Given the description of an element on the screen output the (x, y) to click on. 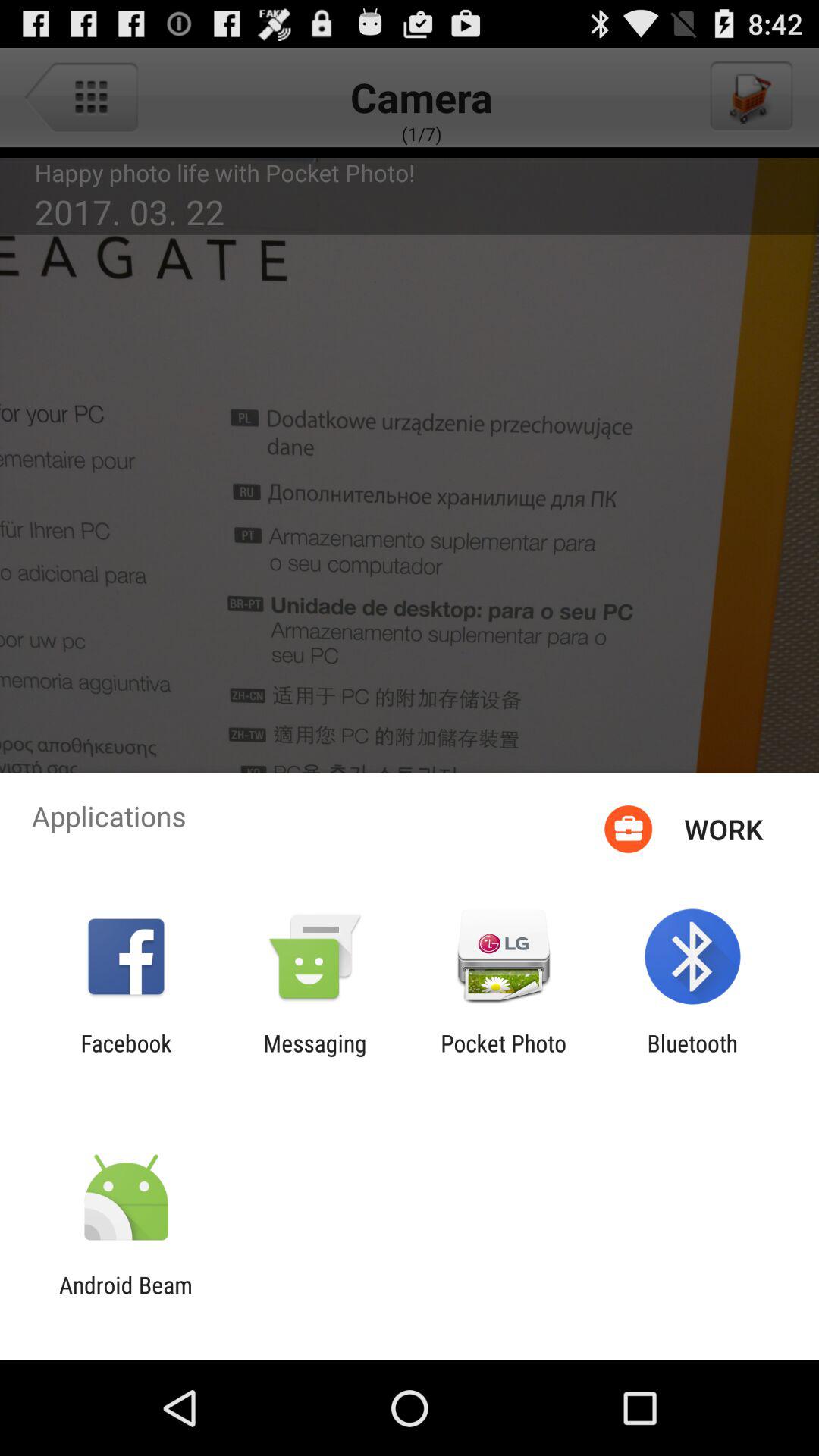
click icon to the left of bluetooth (503, 1056)
